Given the description of an element on the screen output the (x, y) to click on. 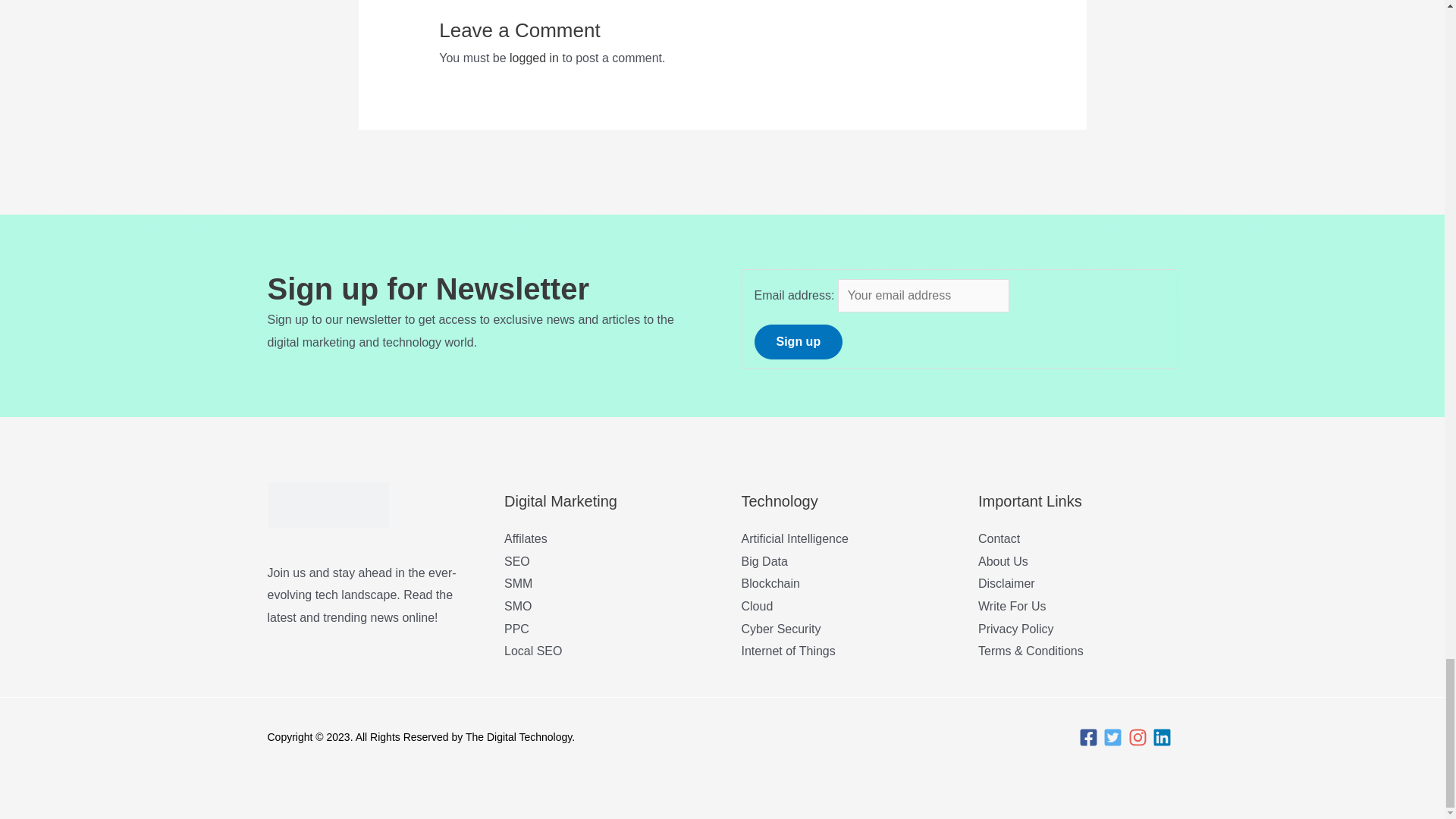
Sign up (798, 341)
